Given the description of an element on the screen output the (x, y) to click on. 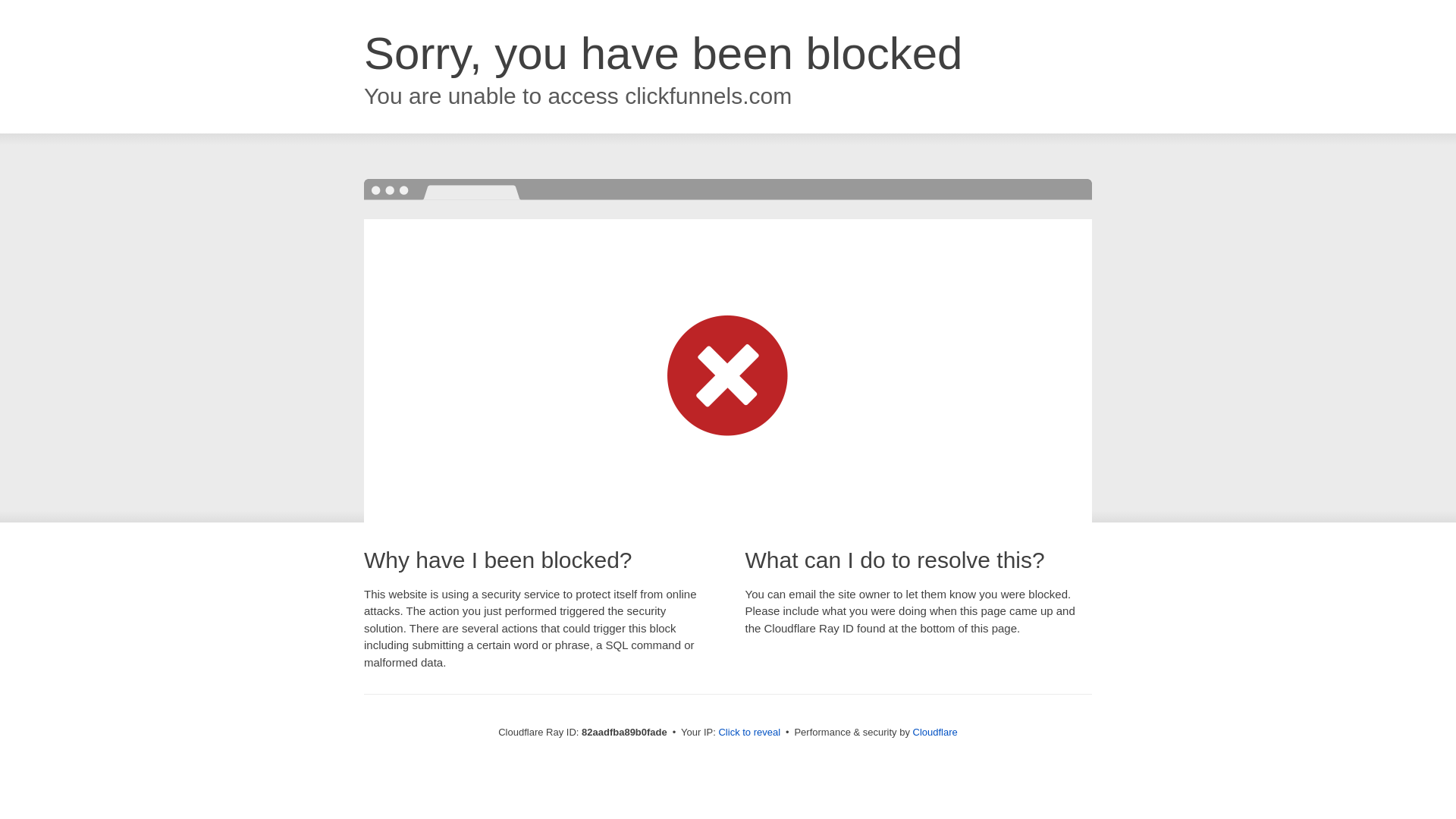
Click to reveal Element type: text (749, 732)
Cloudflare Element type: text (935, 731)
